Given the description of an element on the screen output the (x, y) to click on. 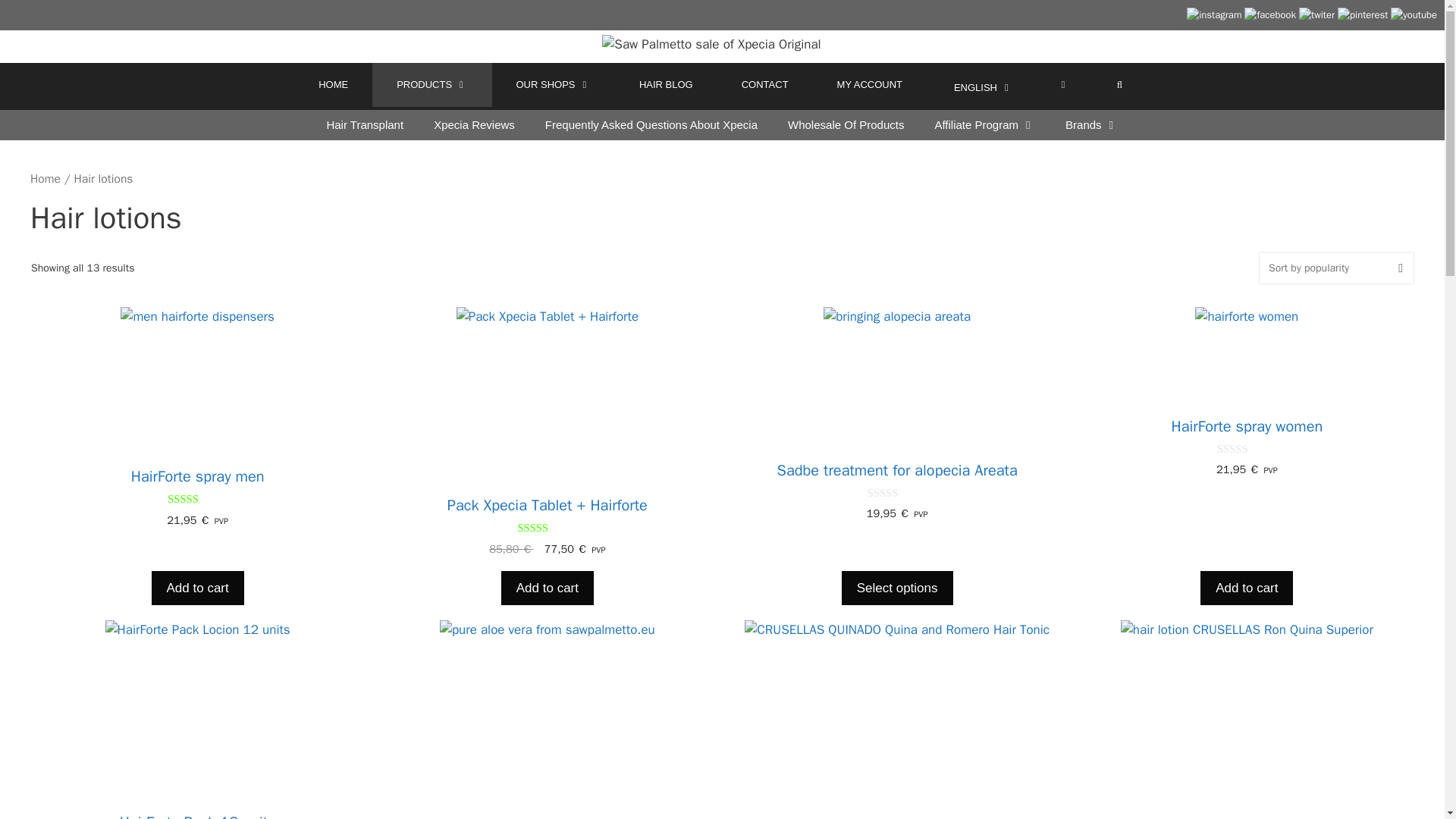
View your shopping cart (1062, 85)
PRODUCTS (432, 85)
Not yet rated (897, 492)
HOME (333, 85)
Rated 4.94 out of 5 (548, 527)
English (981, 87)
OUR SHOPS (553, 85)
Hair Transplant (365, 124)
Rated 4.46 out of 5 (197, 499)
HAIR BLOG (665, 85)
